Given the description of an element on the screen output the (x, y) to click on. 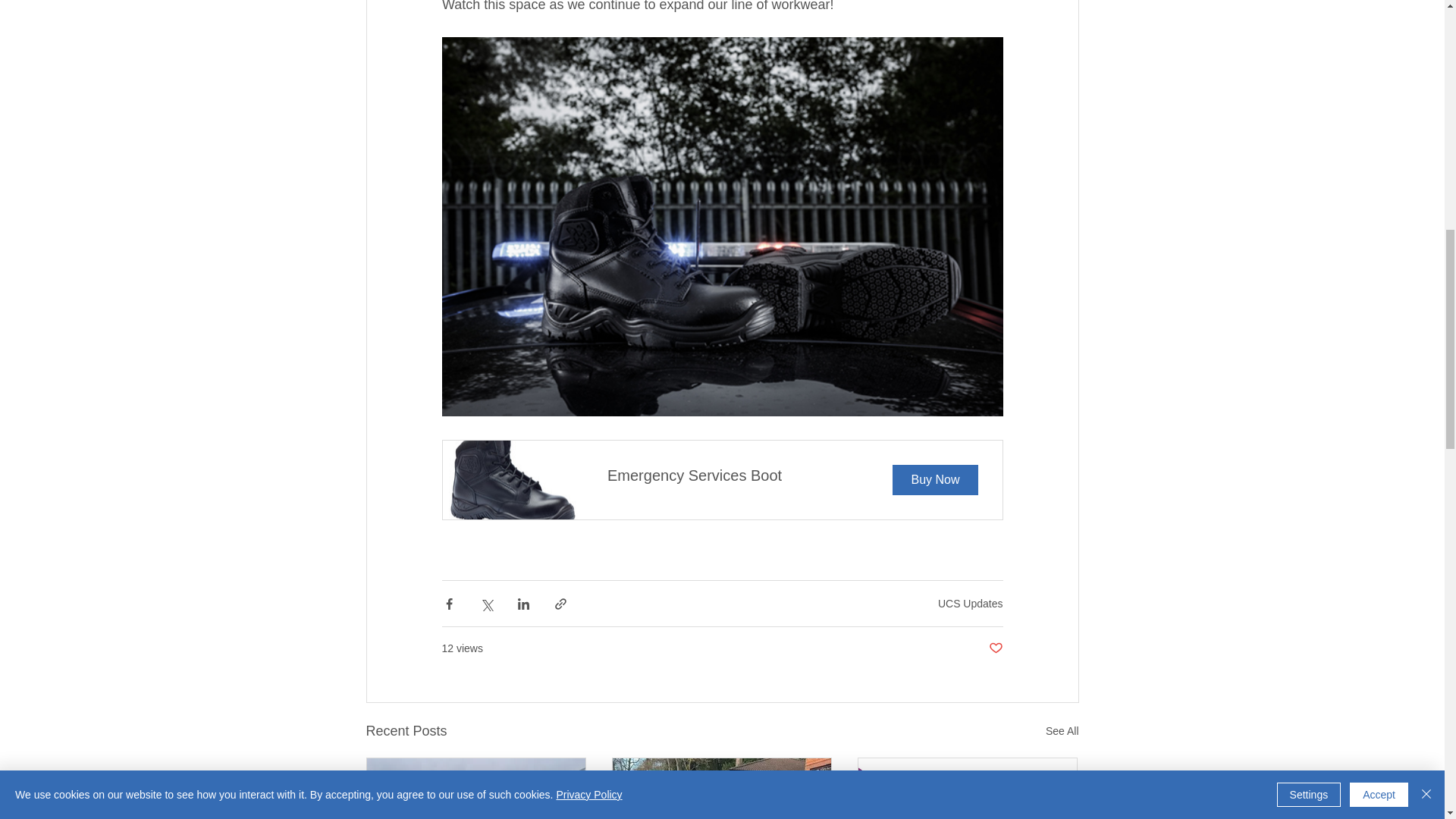
UCS Updates (722, 479)
See All (970, 603)
Post not marked as liked (1061, 731)
